Given the description of an element on the screen output the (x, y) to click on. 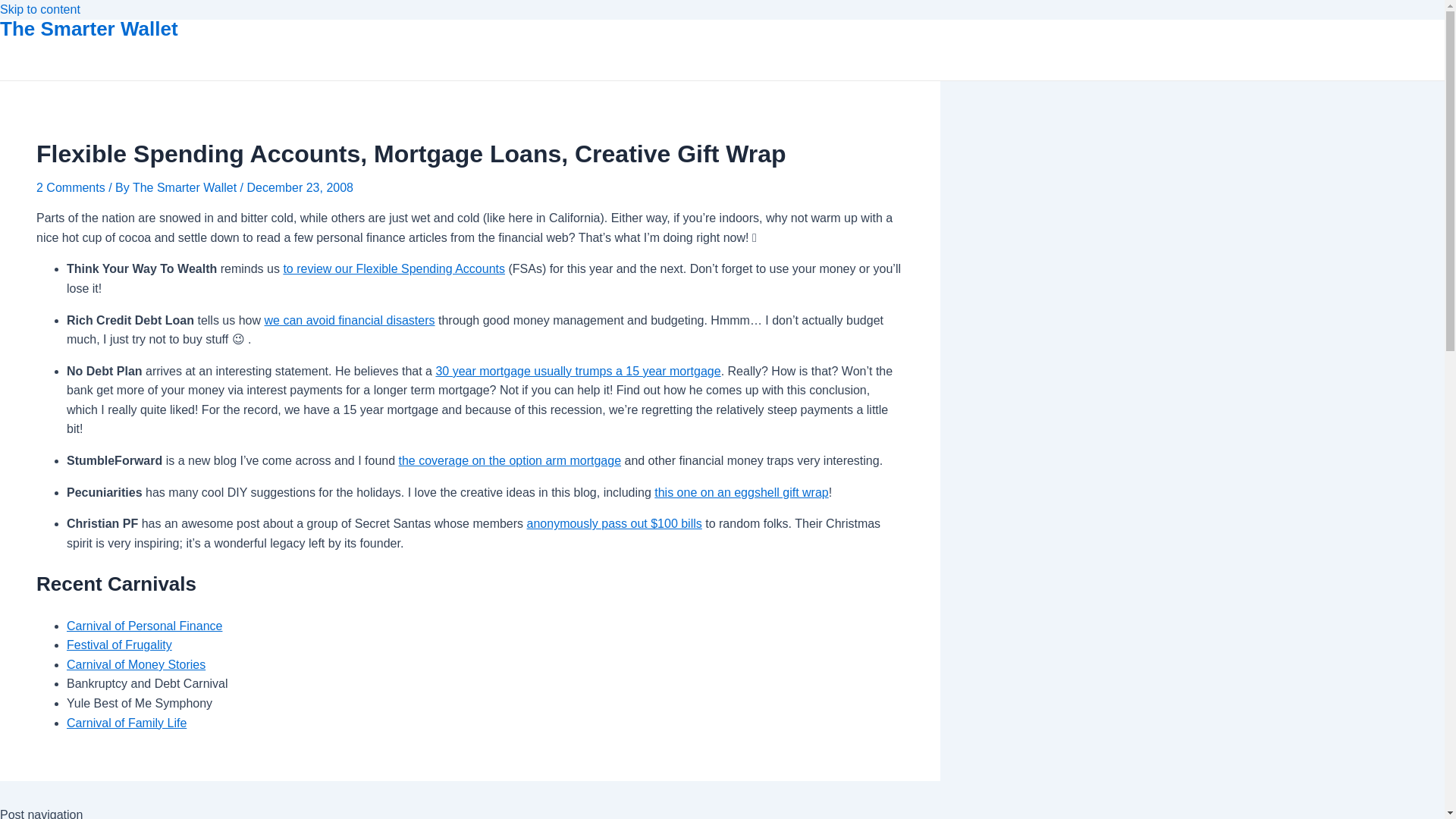
2 Comments (70, 187)
the coverage on the option arm mortgage (509, 460)
Festival of Frugality (118, 644)
we can avoid financial disasters (348, 319)
30 year mortgage usually trumps a 15 year mortgage (577, 370)
Carnival of Personal Finance (144, 625)
The Smarter Wallet (186, 187)
to review our Flexible Spending Accounts (393, 268)
The Smarter Wallet (88, 28)
this one on an eggshell gift wrap (740, 492)
